Given the description of an element on the screen output the (x, y) to click on. 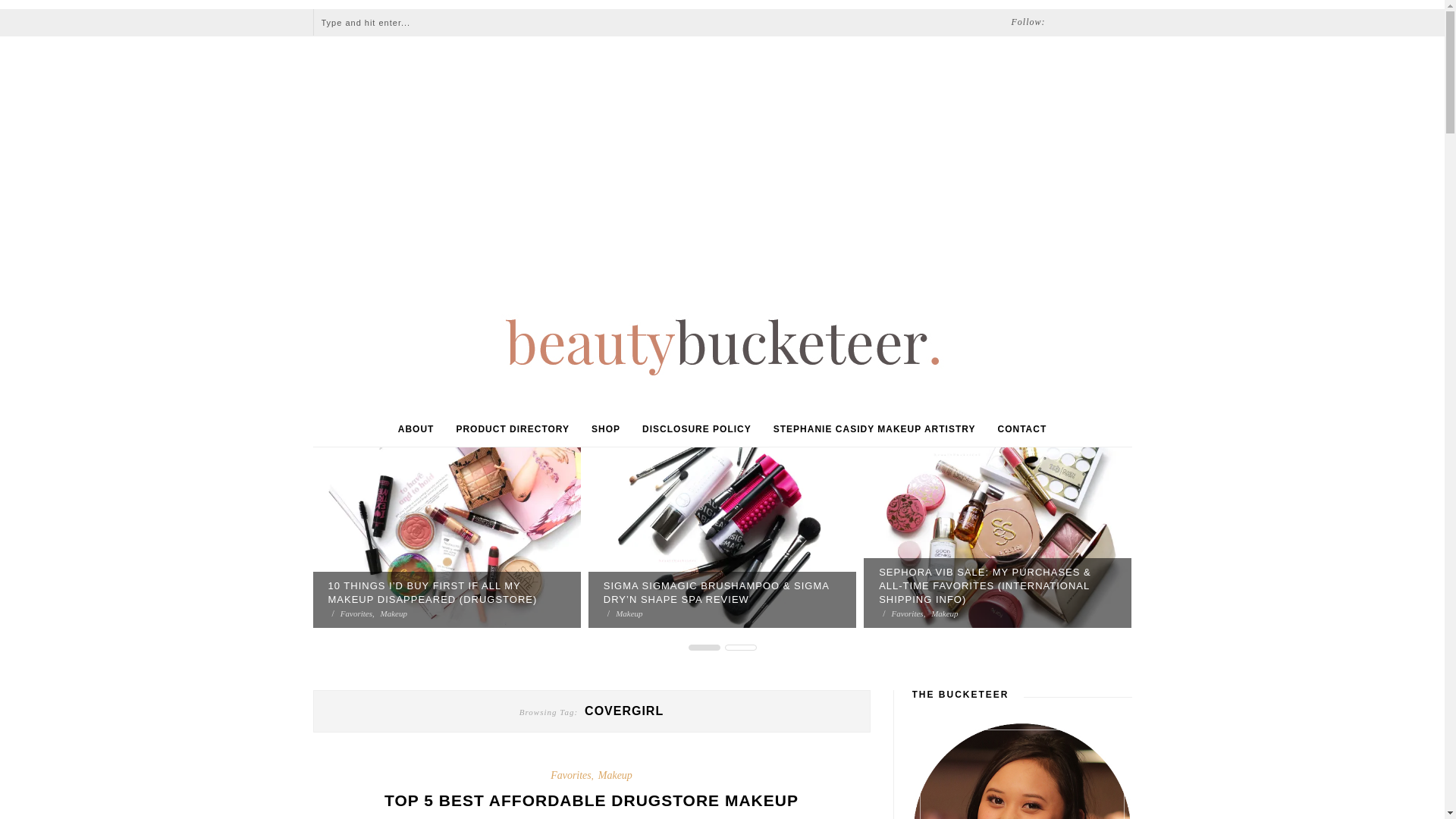
STEPHANIE CASIDY MAKEUP ARTISTRY (874, 429)
Makeup (628, 613)
Makeup (393, 613)
PRODUCT DIRECTORY (512, 429)
CONTACT (1021, 429)
Favorites (358, 613)
DISCLOSURE POLICY (696, 429)
ABOUT (415, 429)
